Given the description of an element on the screen output the (x, y) to click on. 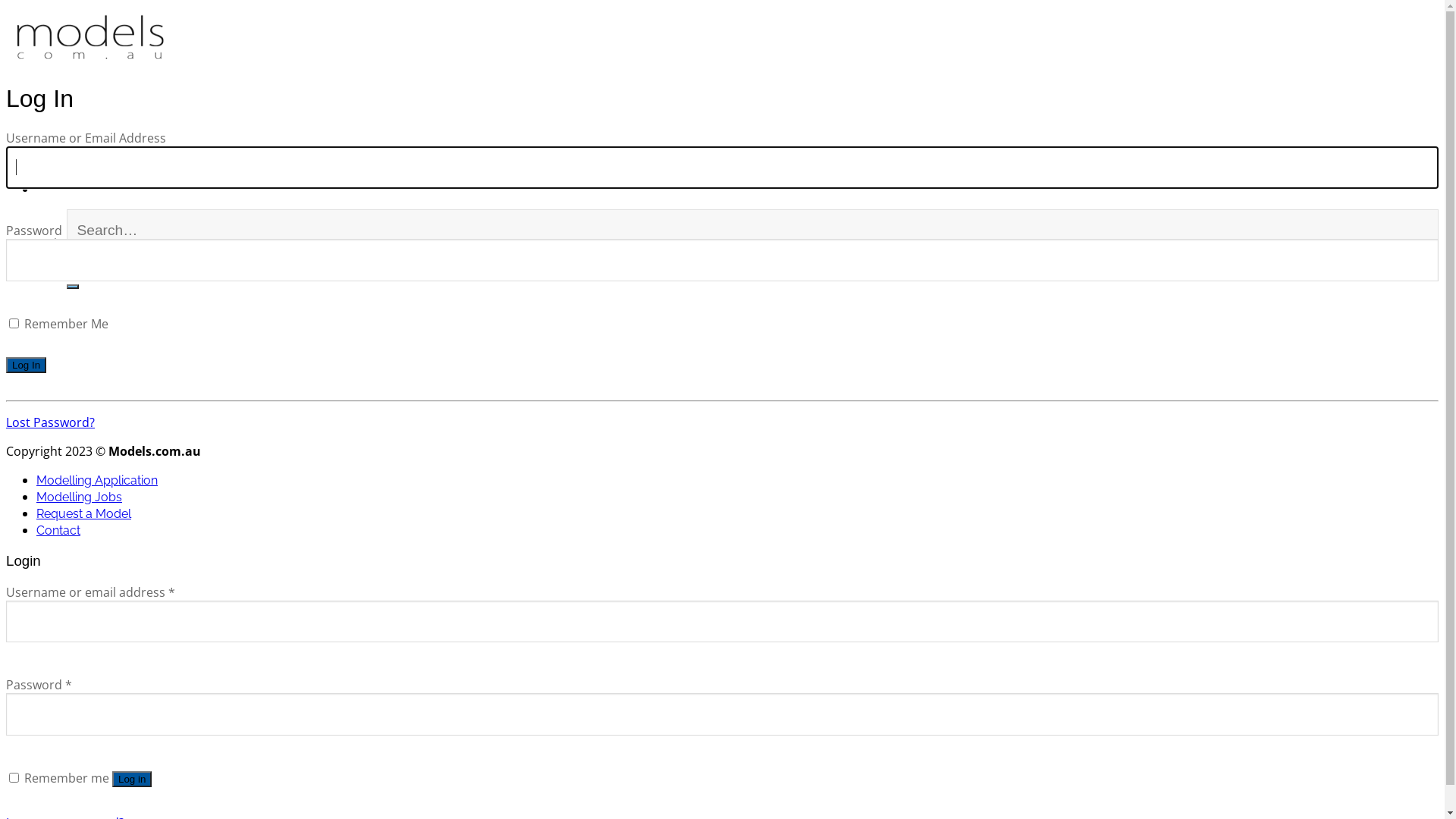
Request a Model Element type: text (83, 513)
Contact Element type: text (58, 530)
Modelling Jobs Element type: text (79, 496)
Log In Element type: text (26, 365)
Skip to content Element type: text (5, 5)
Search Element type: text (72, 286)
Log in Element type: text (131, 779)
Modelling Application Element type: text (96, 480)
Lost Password? Element type: text (50, 422)
Models.com.au Element type: hover (140, 97)
